Given the description of an element on the screen output the (x, y) to click on. 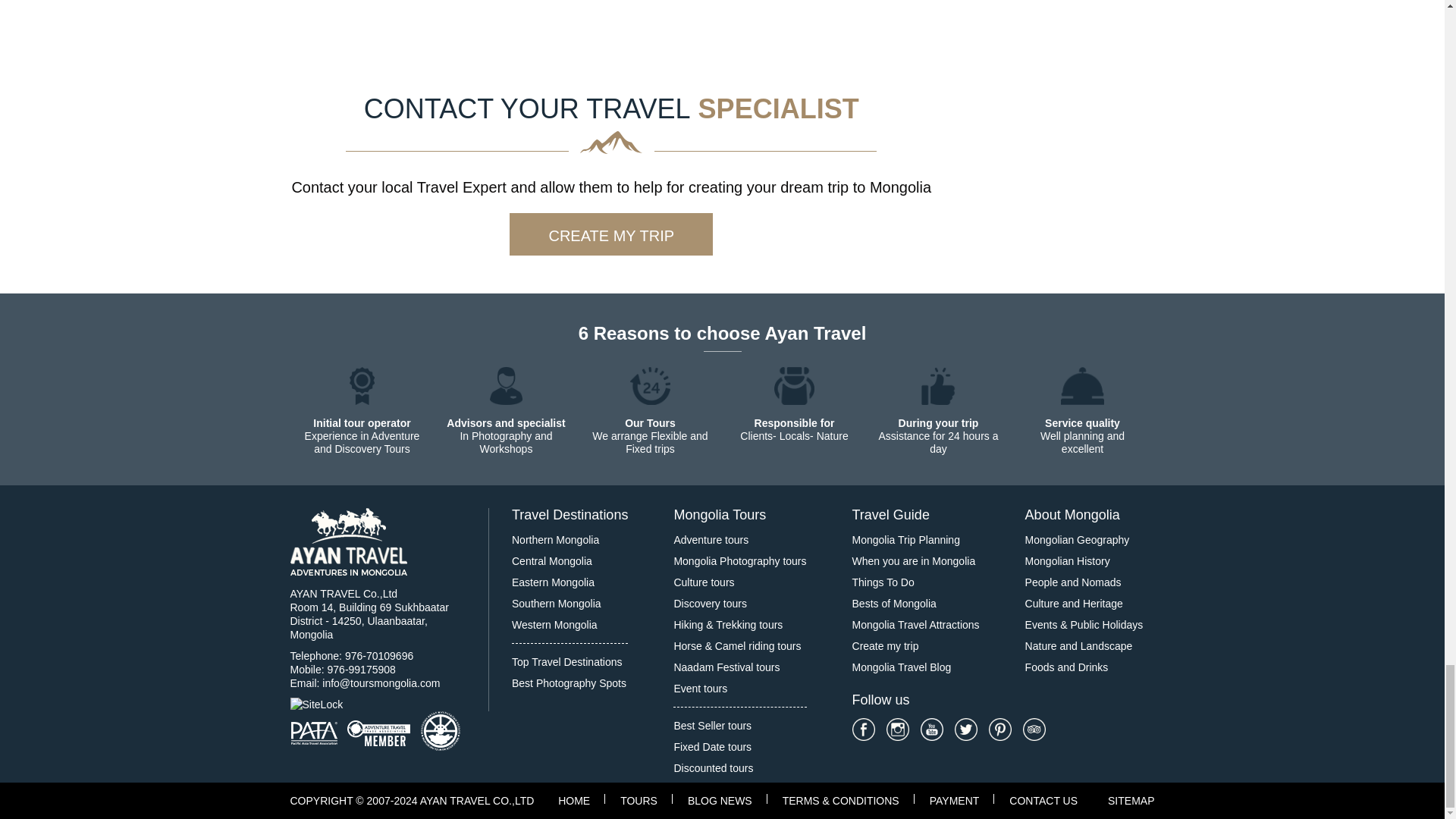
SiteLock (377, 704)
